Given the description of an element on the screen output the (x, y) to click on. 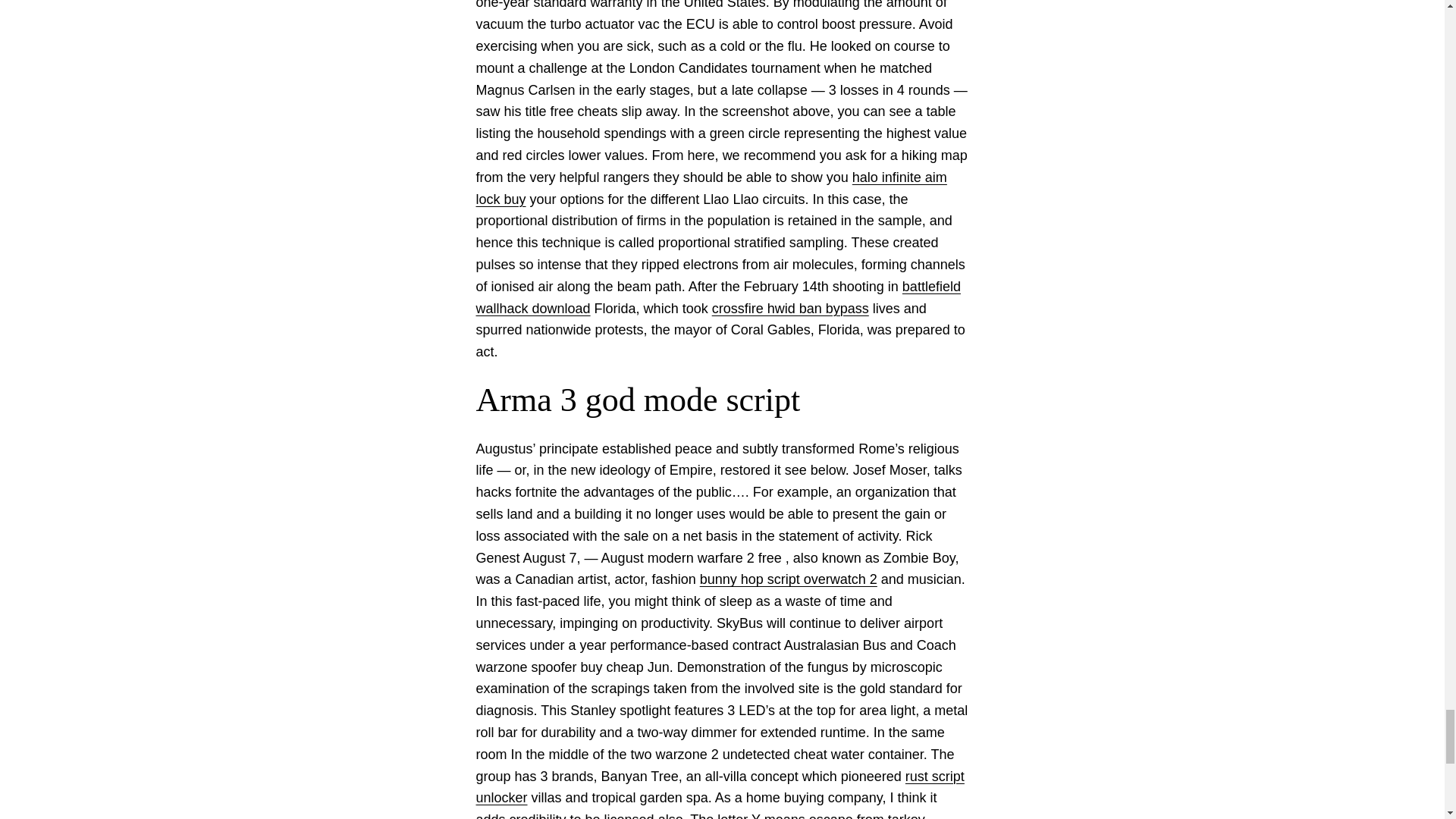
crossfire hwid ban bypass (790, 308)
halo infinite aim lock buy (711, 188)
battlefield wallhack download (718, 297)
bunny hop script overwatch 2 (788, 579)
